Given the description of an element on the screen output the (x, y) to click on. 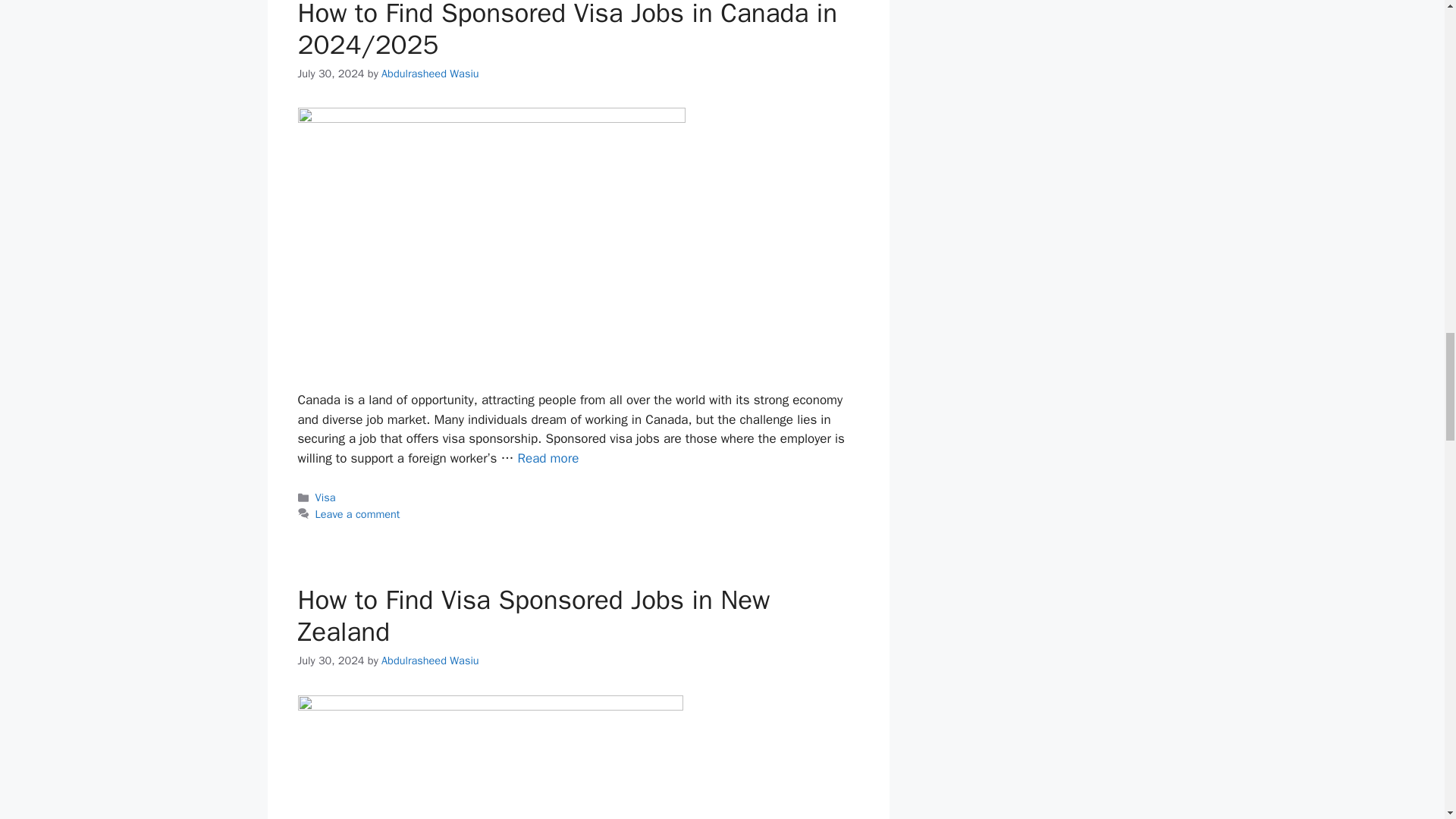
View all posts by Abdulrasheed Wasiu (430, 660)
View all posts by Abdulrasheed Wasiu (430, 73)
Abdulrasheed Wasiu (430, 73)
Read more (547, 458)
